Given the description of an element on the screen output the (x, y) to click on. 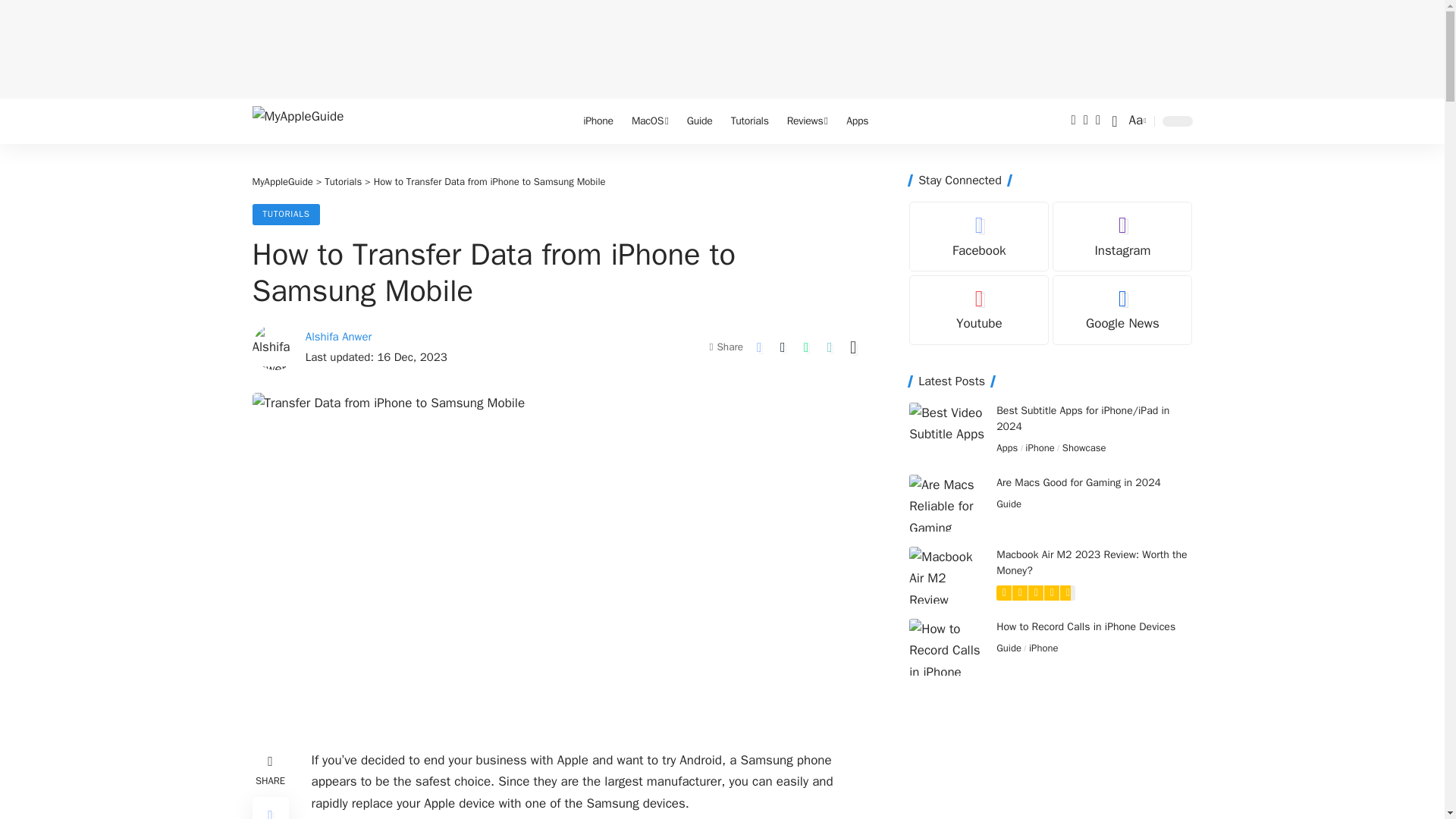
MyAppleGuide (311, 121)
Go to MyAppleGuide. (282, 181)
Go to the Tutorials Category archives. (342, 181)
Aa (1136, 120)
Are Macs Good for Gaming in 2024 (946, 503)
Guide (700, 121)
iPhone (598, 121)
Reviews (807, 121)
Tutorials (749, 121)
Macbook Air M2 2023 Review: Worth the Money? (946, 575)
